Given the description of an element on the screen output the (x, y) to click on. 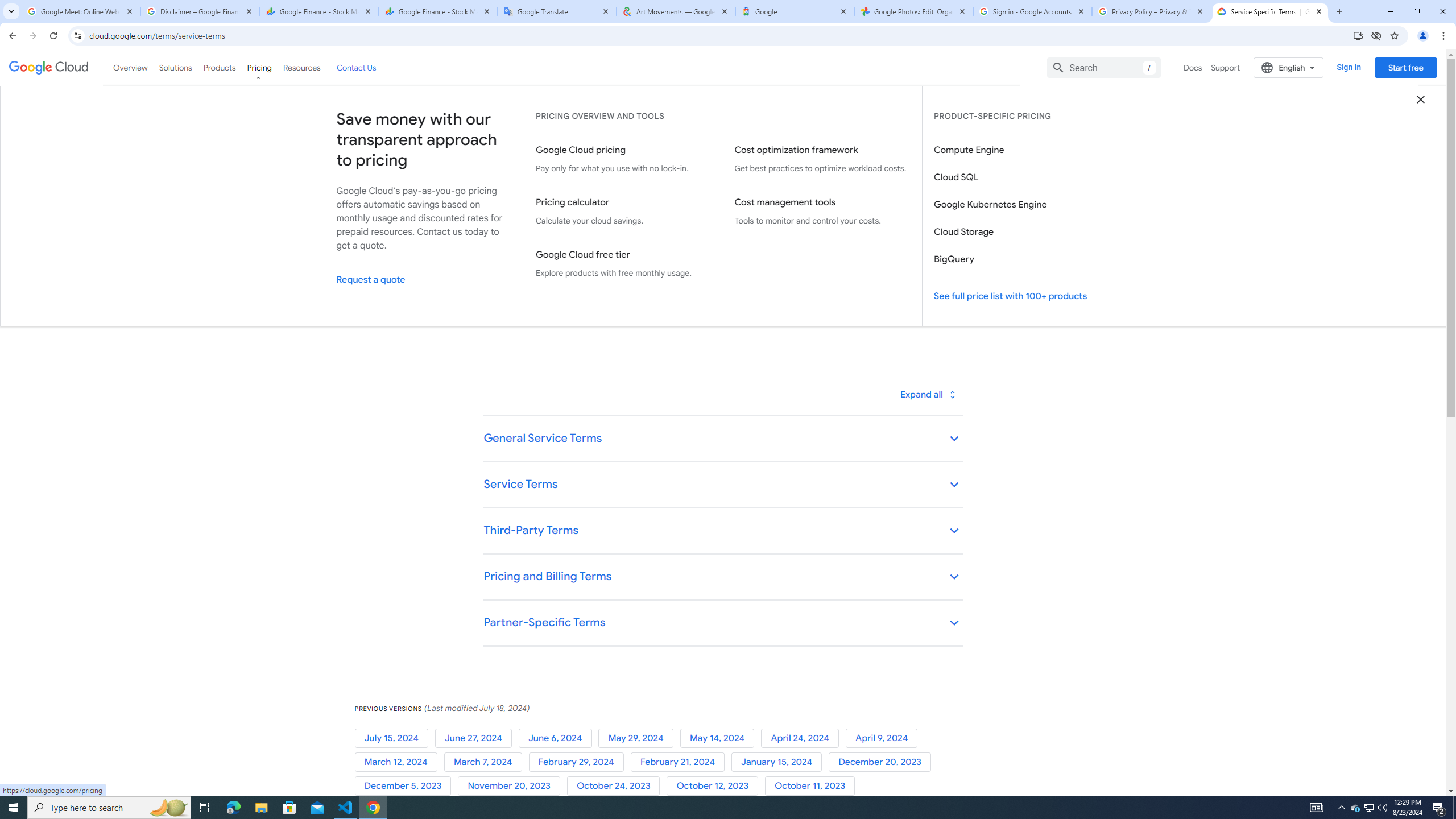
November 20, 2023 (511, 786)
June 6, 2024 (558, 737)
Third-Party Terms keyboard_arrow_down (722, 531)
Cloud SQL (1021, 177)
January 15, 2024 (779, 761)
Google Cloud (48, 67)
March 12, 2024 (398, 761)
Toggle all (927, 393)
March 7, 2024 (486, 761)
Start free (1405, 67)
